Given the description of an element on the screen output the (x, y) to click on. 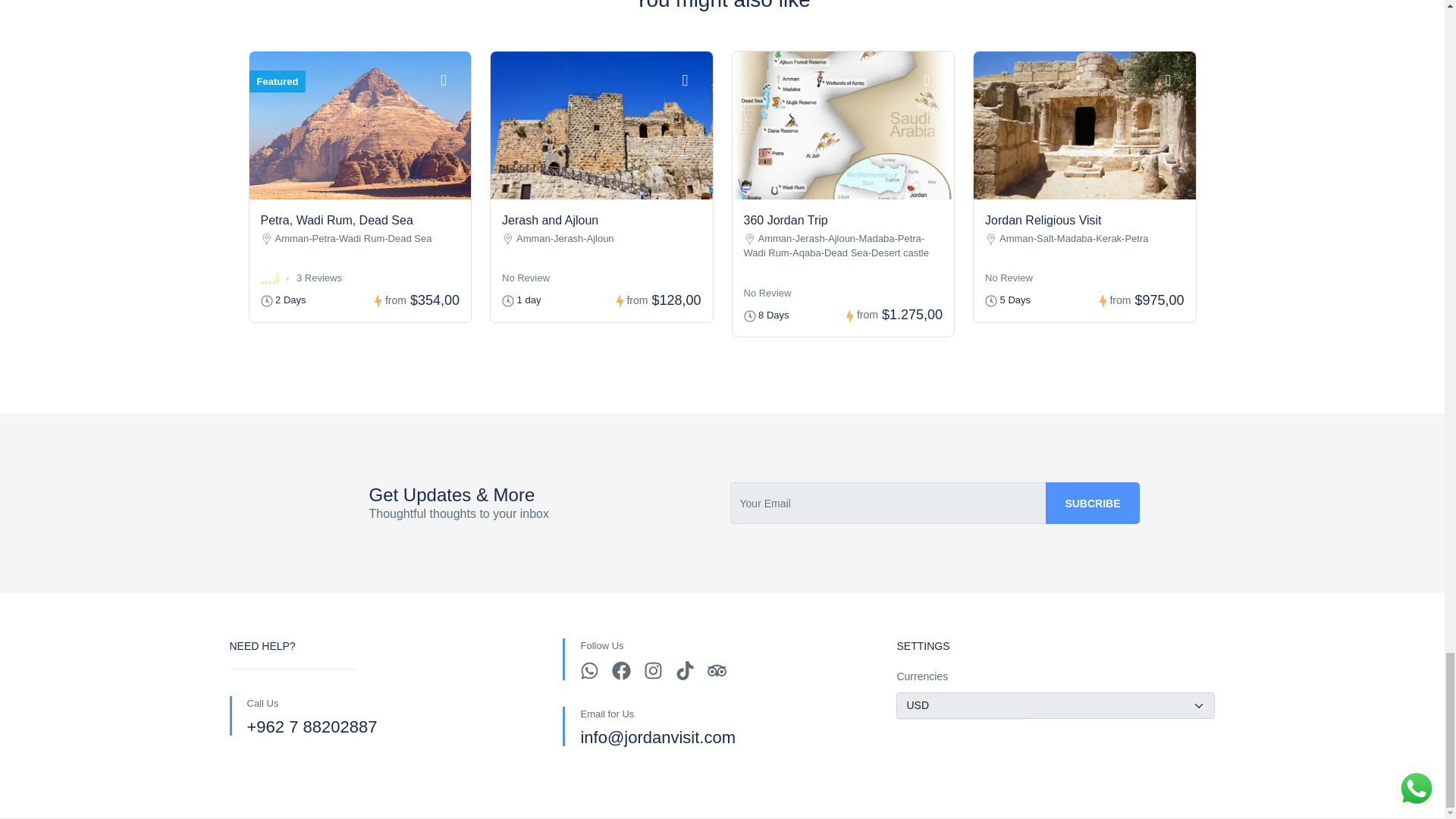
Add to wishlist (693, 78)
Subcribe (1091, 503)
Add to wishlist (1176, 78)
Add to wishlist (452, 78)
Add to wishlist (934, 78)
